Given the description of an element on the screen output the (x, y) to click on. 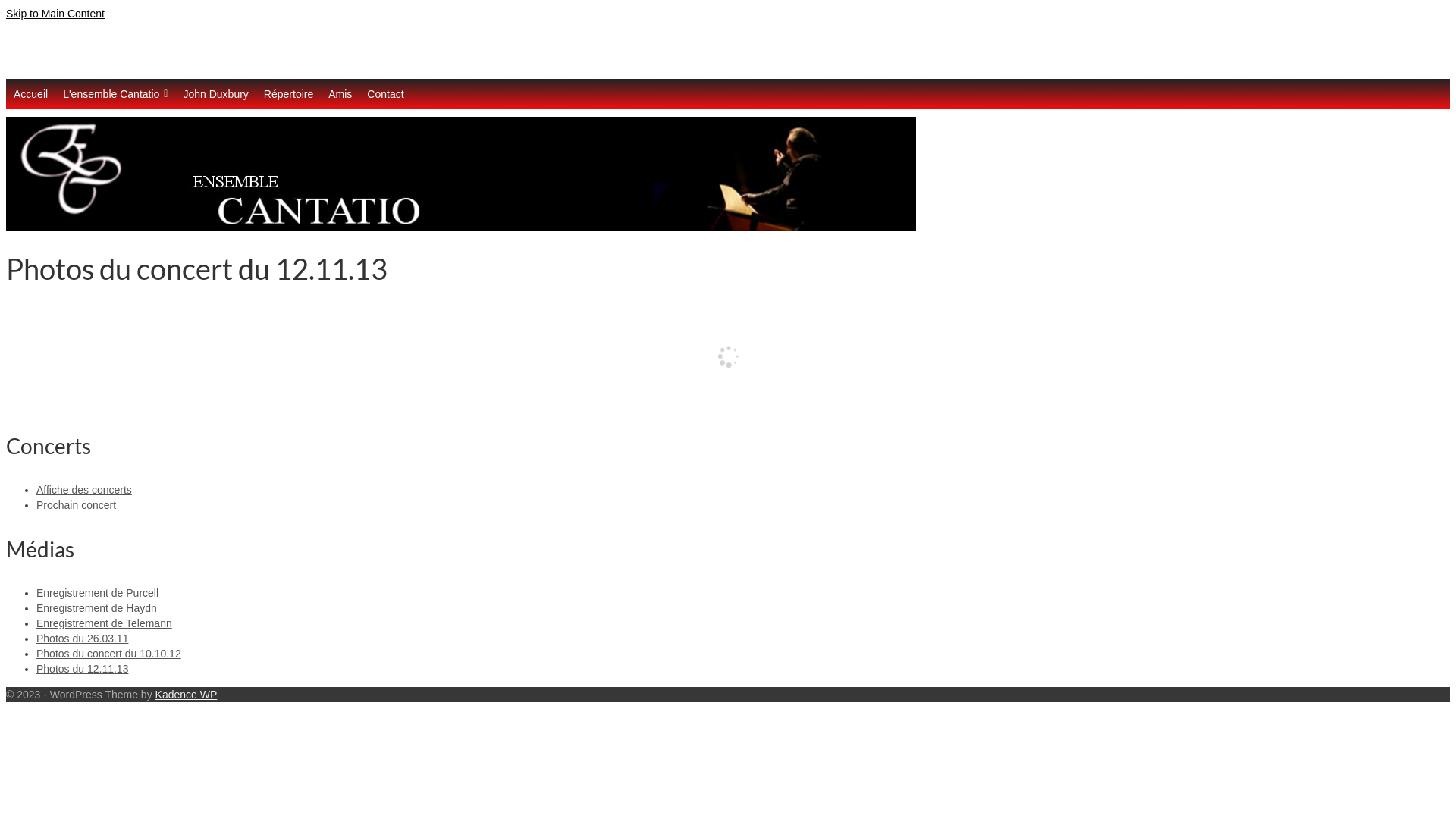
Accueil Element type: text (30, 93)
Amis Element type: text (339, 93)
Prochain concert Element type: text (76, 504)
Skip to Main Content Element type: text (55, 13)
Photos du 26.03.11 Element type: text (82, 638)
Photos du 12.11.13 Element type: text (82, 668)
Affiche des concerts Element type: text (83, 489)
Enregistrement de Telemann Element type: text (104, 623)
Enregistrement de Purcell Element type: text (97, 592)
Enregistrement de Haydn Element type: text (96, 608)
John Duxbury Element type: text (215, 93)
Photos du concert du 10.10.12 Element type: text (108, 653)
Kadence WP Element type: text (186, 694)
L'ensemble Cantatio Element type: text (115, 93)
Contact Element type: text (385, 93)
